Given the description of an element on the screen output the (x, y) to click on. 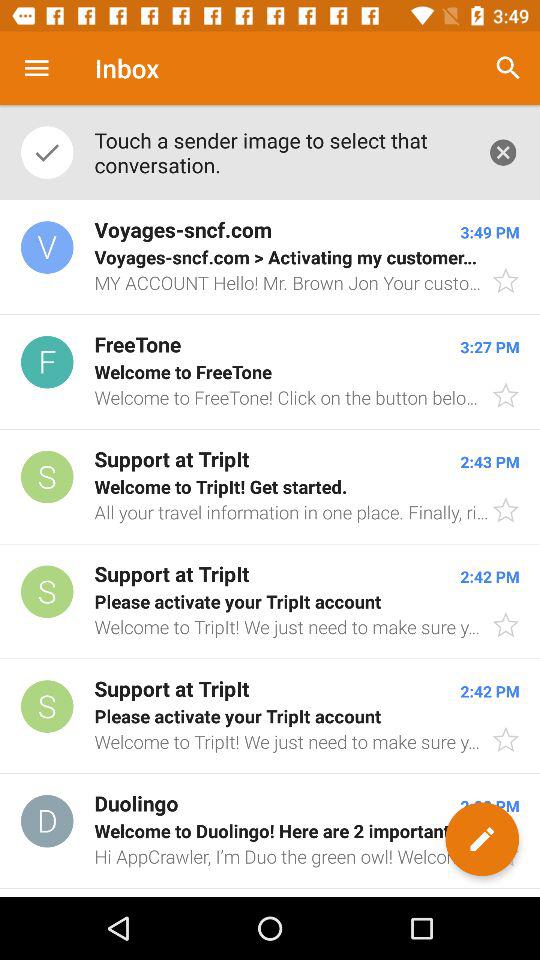
tap the icon to the right of touch a sender icon (508, 67)
